Given the description of an element on the screen output the (x, y) to click on. 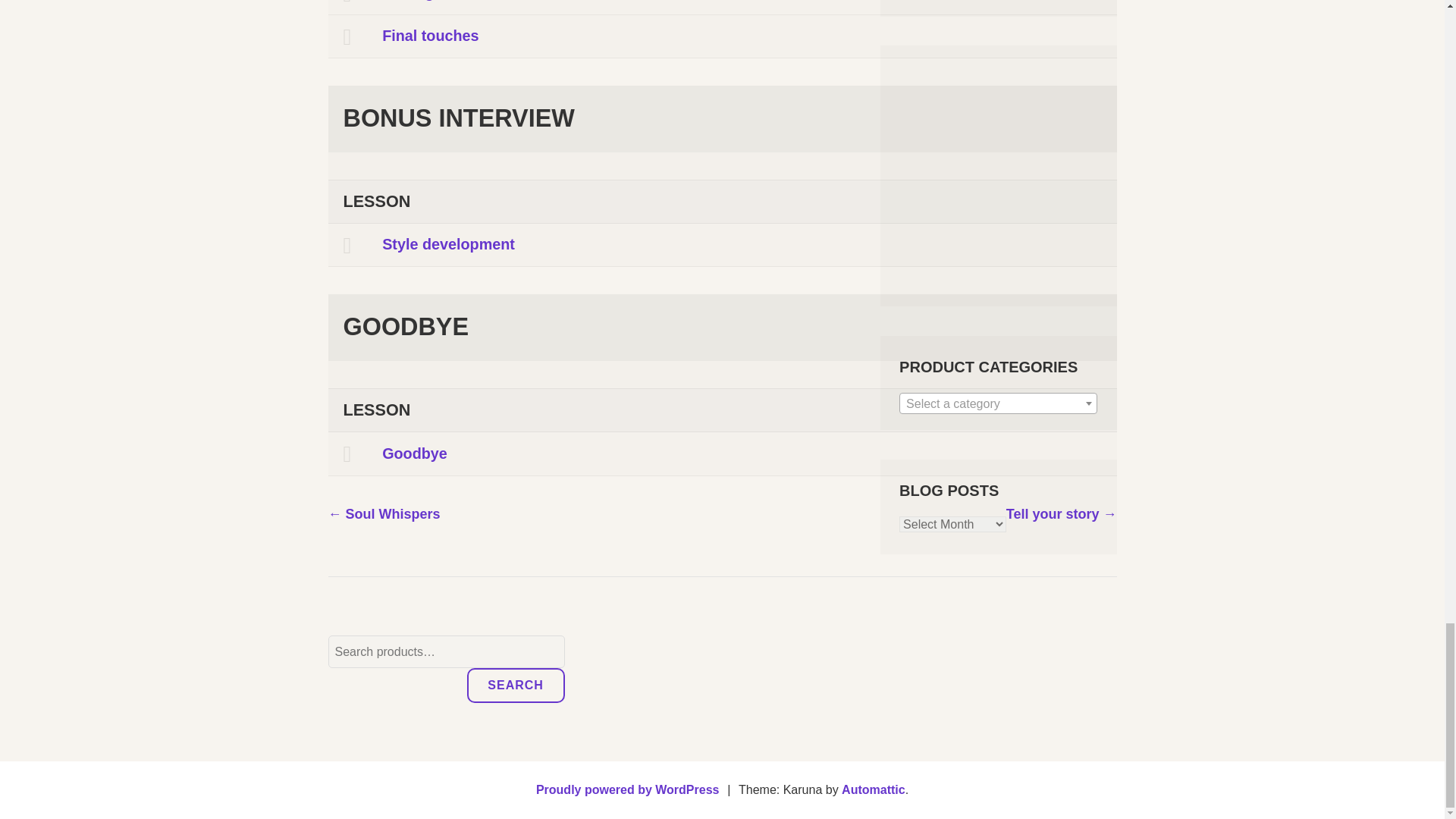
Proudly powered by WordPress (627, 789)
Adding details and texture (721, 7)
Final touches (721, 36)
Goodbye (721, 453)
Goodbye (721, 453)
Style development (721, 244)
SEARCH (515, 685)
Adding details and texture (721, 7)
Final touches (721, 36)
Style development (721, 244)
Soul Whispers (383, 513)
Tell your story (1061, 513)
